Given the description of an element on the screen output the (x, y) to click on. 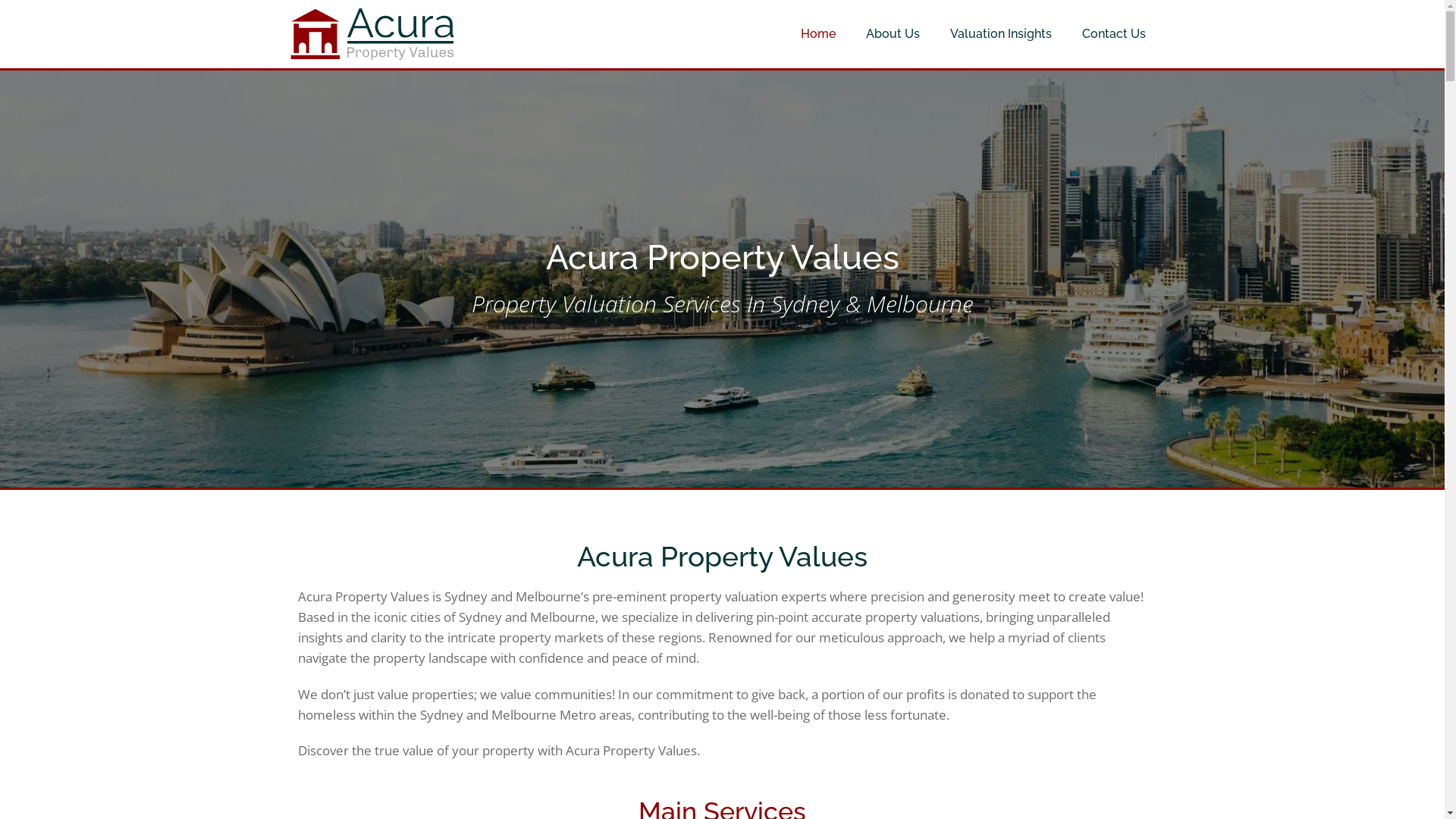
Contact Us Element type: text (1113, 33)
About Us Element type: text (892, 33)
Valuation Insights Element type: text (1000, 33)
Home Element type: text (818, 33)
